Given the description of an element on the screen output the (x, y) to click on. 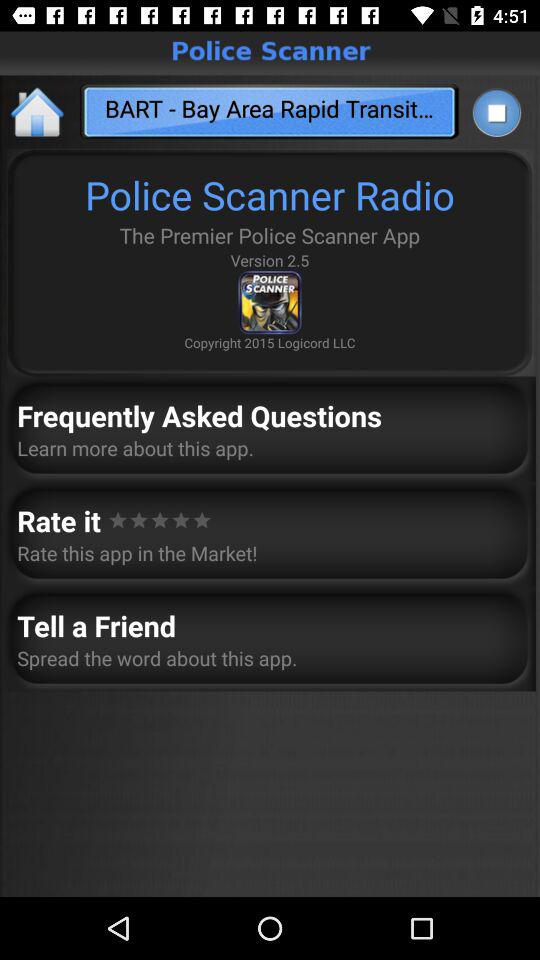
return to police scanner home page (38, 111)
